Given the description of an element on the screen output the (x, y) to click on. 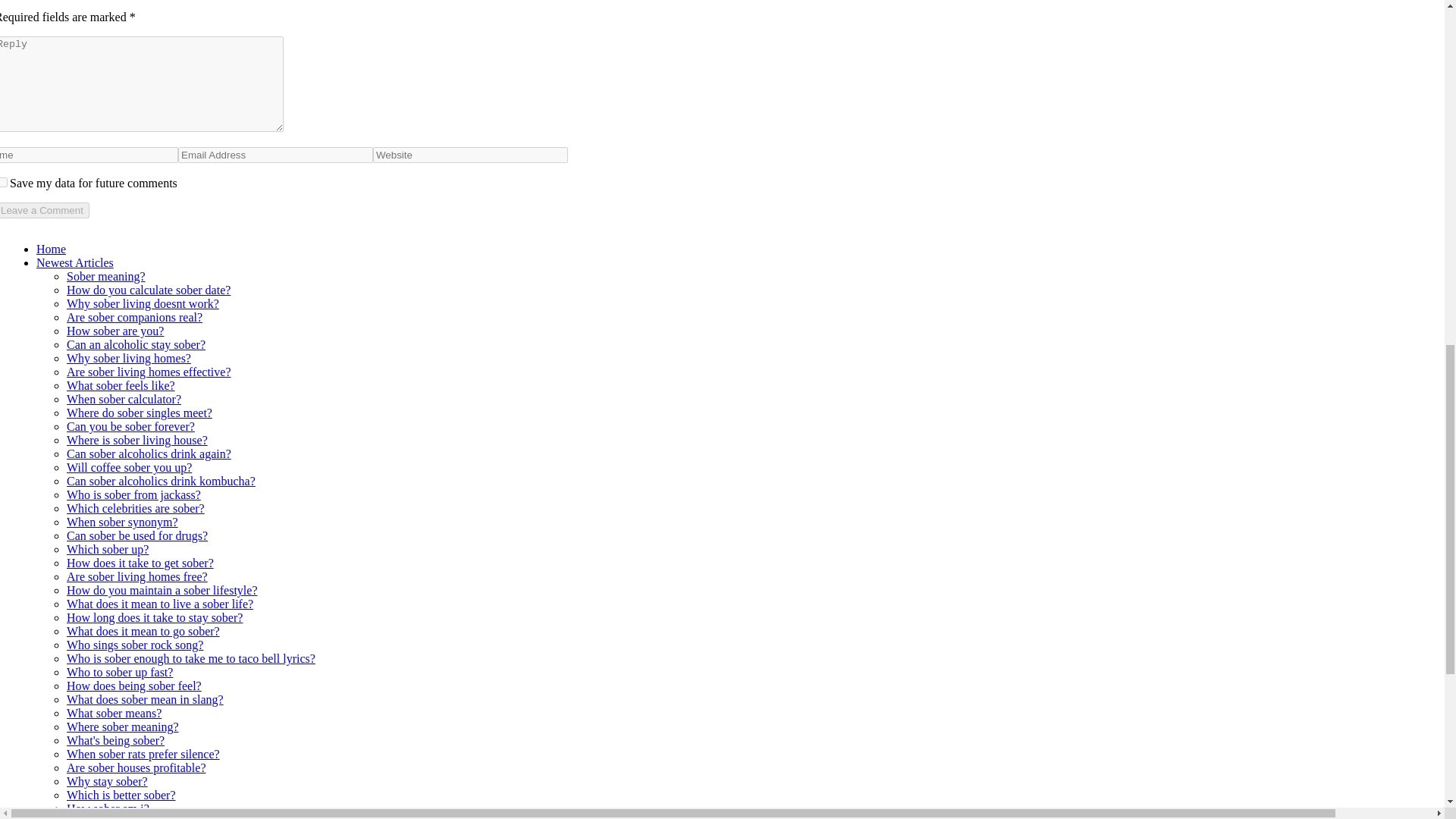
Are sober living homes effective? (148, 371)
Where do sober singles meet? (139, 412)
Leave a Comment (44, 210)
How long does it take to stay sober? (154, 617)
Home (50, 248)
Can sober alcoholics drink kombucha? (161, 481)
Are sober living homes free? (137, 576)
Who sings sober rock song? (134, 644)
When sober calculator? (123, 399)
What does it mean to go sober? (142, 631)
